Given the description of an element on the screen output the (x, y) to click on. 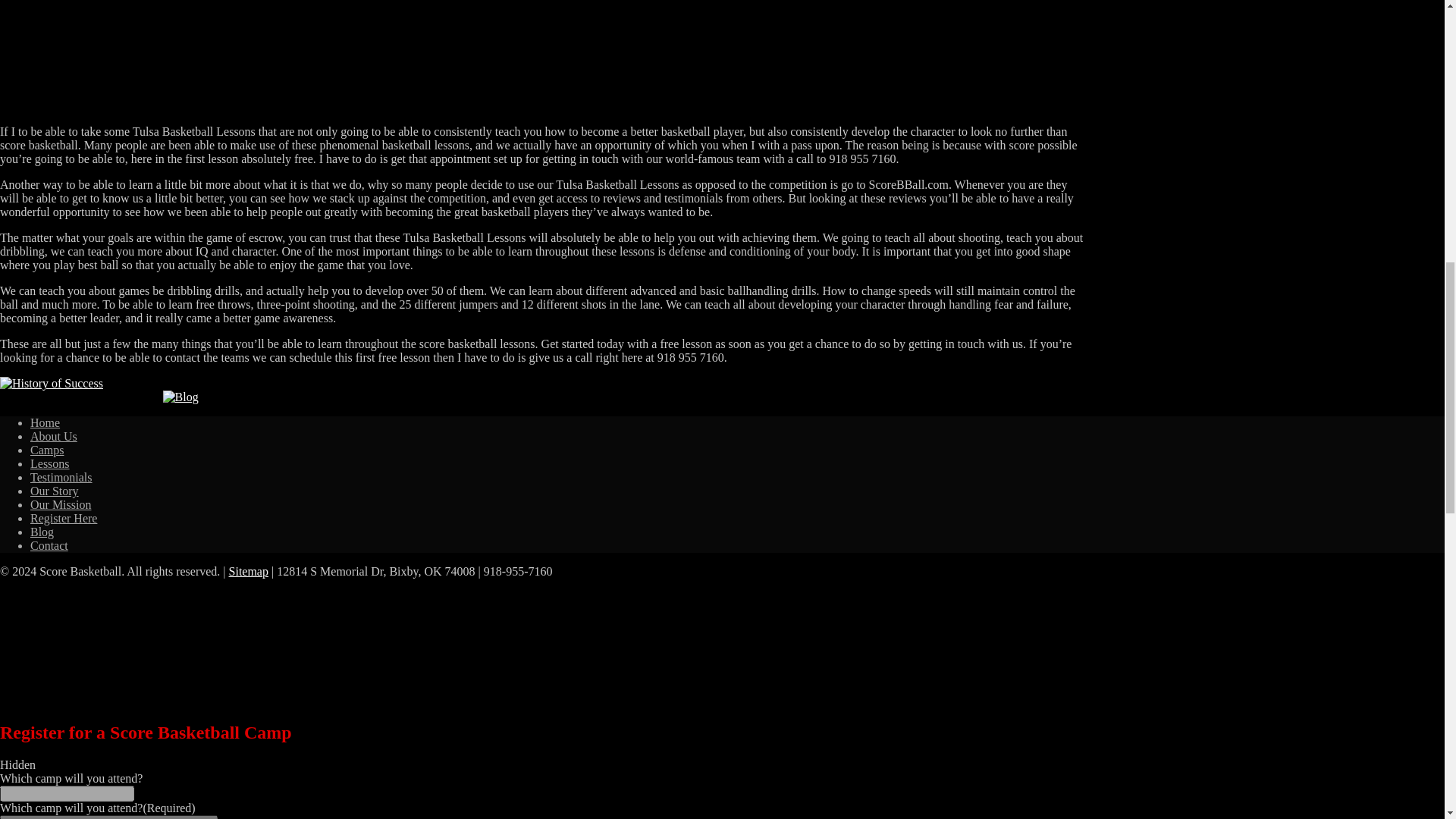
Lessons (49, 463)
Our Mission (60, 504)
Blog (41, 531)
Home (44, 422)
Camps (47, 449)
Testimonials (61, 477)
Register Here (63, 517)
Our Story (54, 490)
Sitemap (247, 571)
About Us (53, 436)
Contact (49, 545)
